Given the description of an element on the screen output the (x, y) to click on. 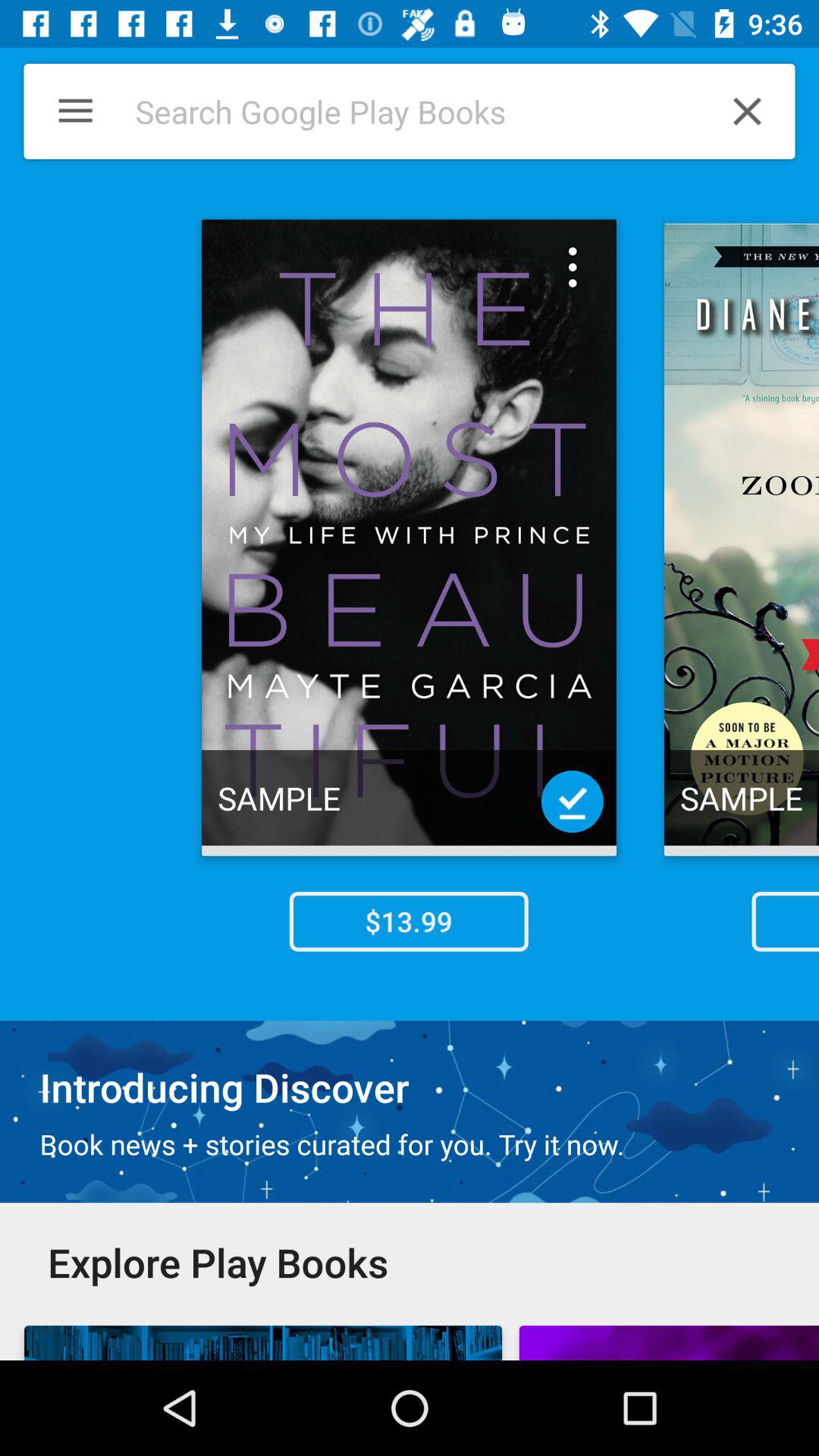
search books (401, 111)
